Given the description of an element on the screen output the (x, y) to click on. 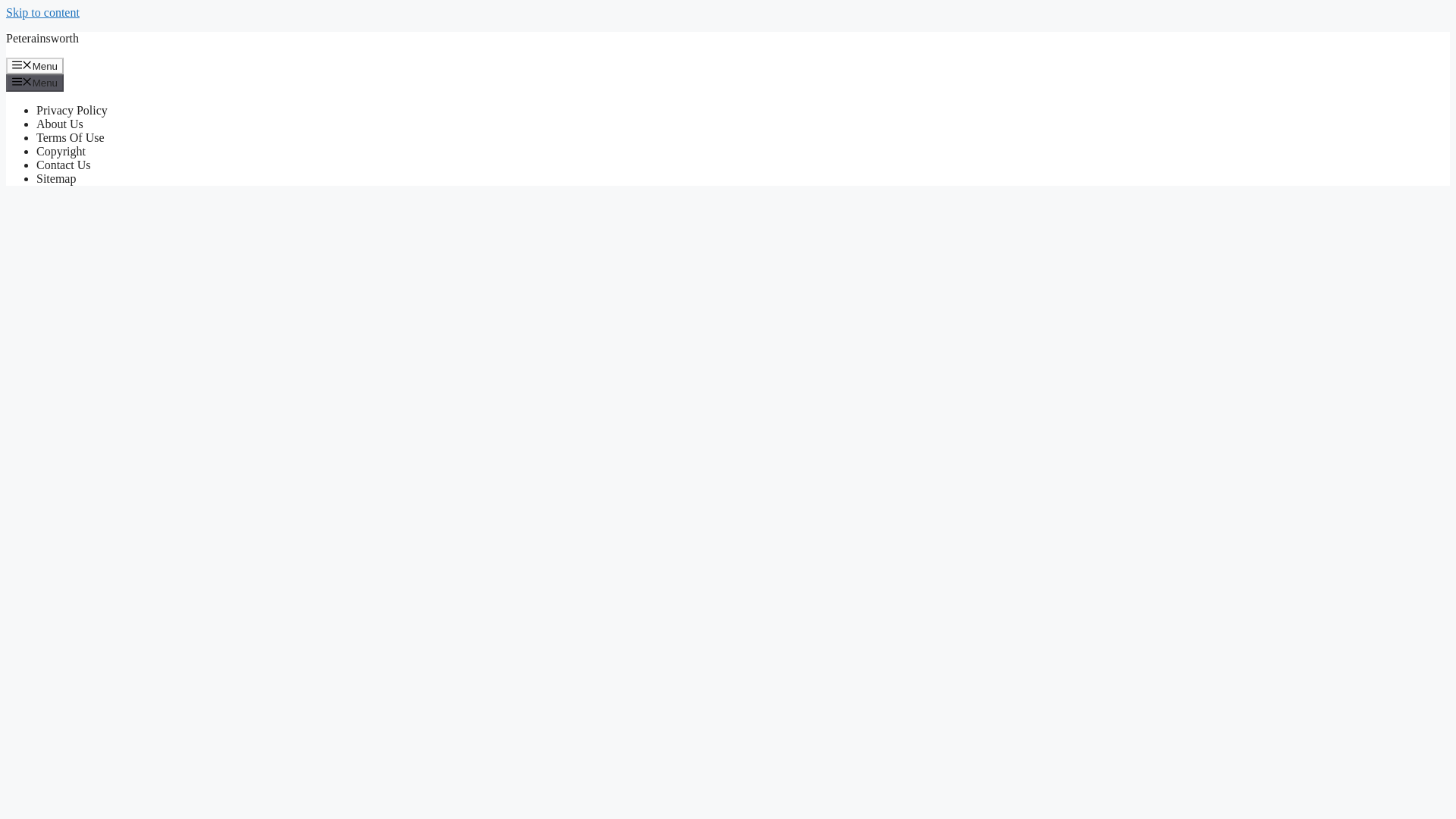
Skip to content (42, 11)
Skip to content (42, 11)
Privacy Policy (71, 110)
Contact Us (63, 164)
Peterainsworth (41, 38)
Menu (34, 65)
Terms Of Use (70, 137)
About Us (59, 123)
Menu (34, 82)
Copyright (60, 151)
